Given the description of an element on the screen output the (x, y) to click on. 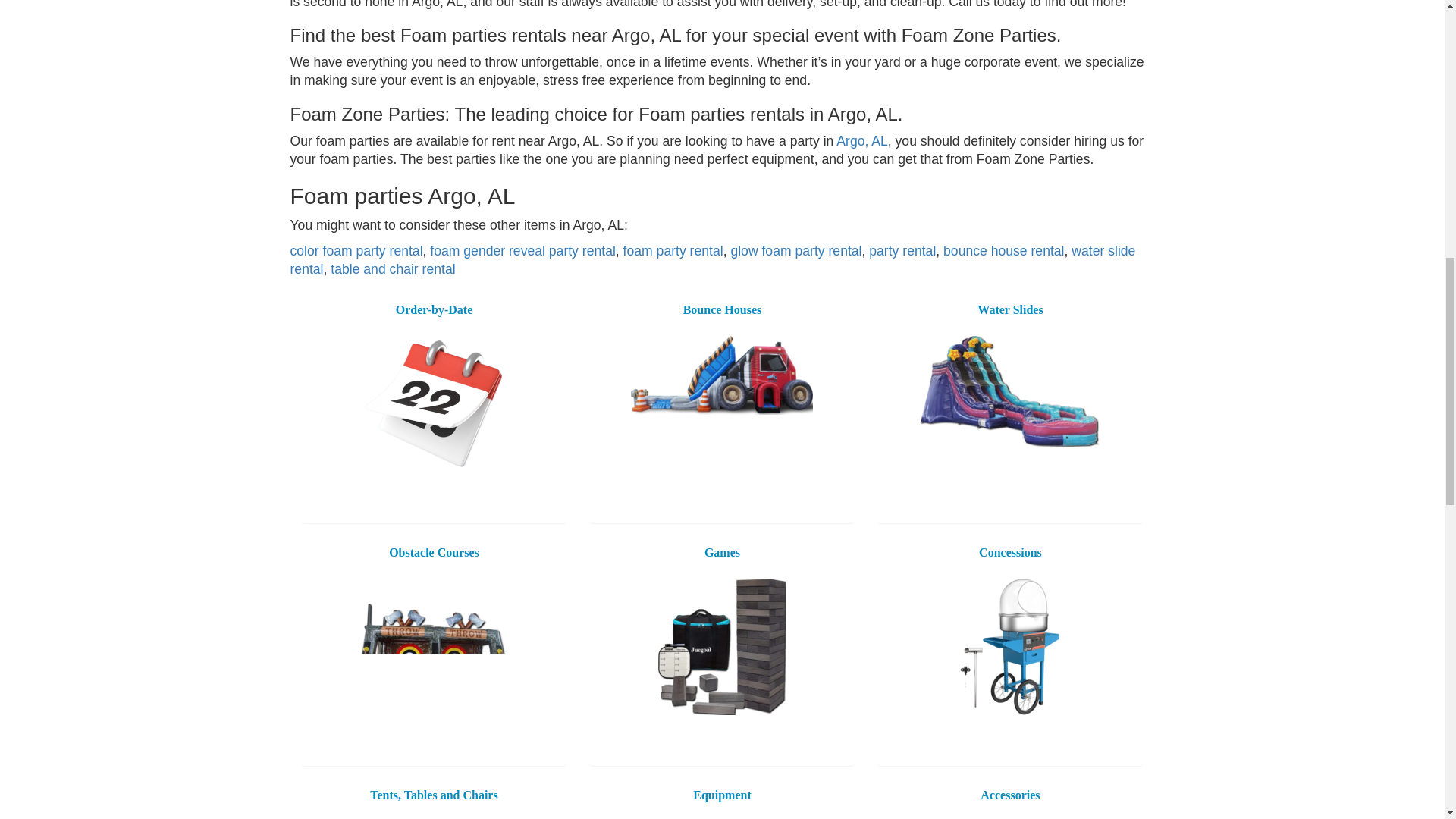
Argo, AL (861, 140)
foam gender reveal party rental (522, 250)
Games (722, 646)
Water Slides (1009, 390)
bounce house rental (1003, 250)
foam party rental (673, 250)
color foam party rental (355, 250)
water slide rental (712, 259)
table and chair rental (392, 268)
party rental (902, 250)
